Given the description of an element on the screen output the (x, y) to click on. 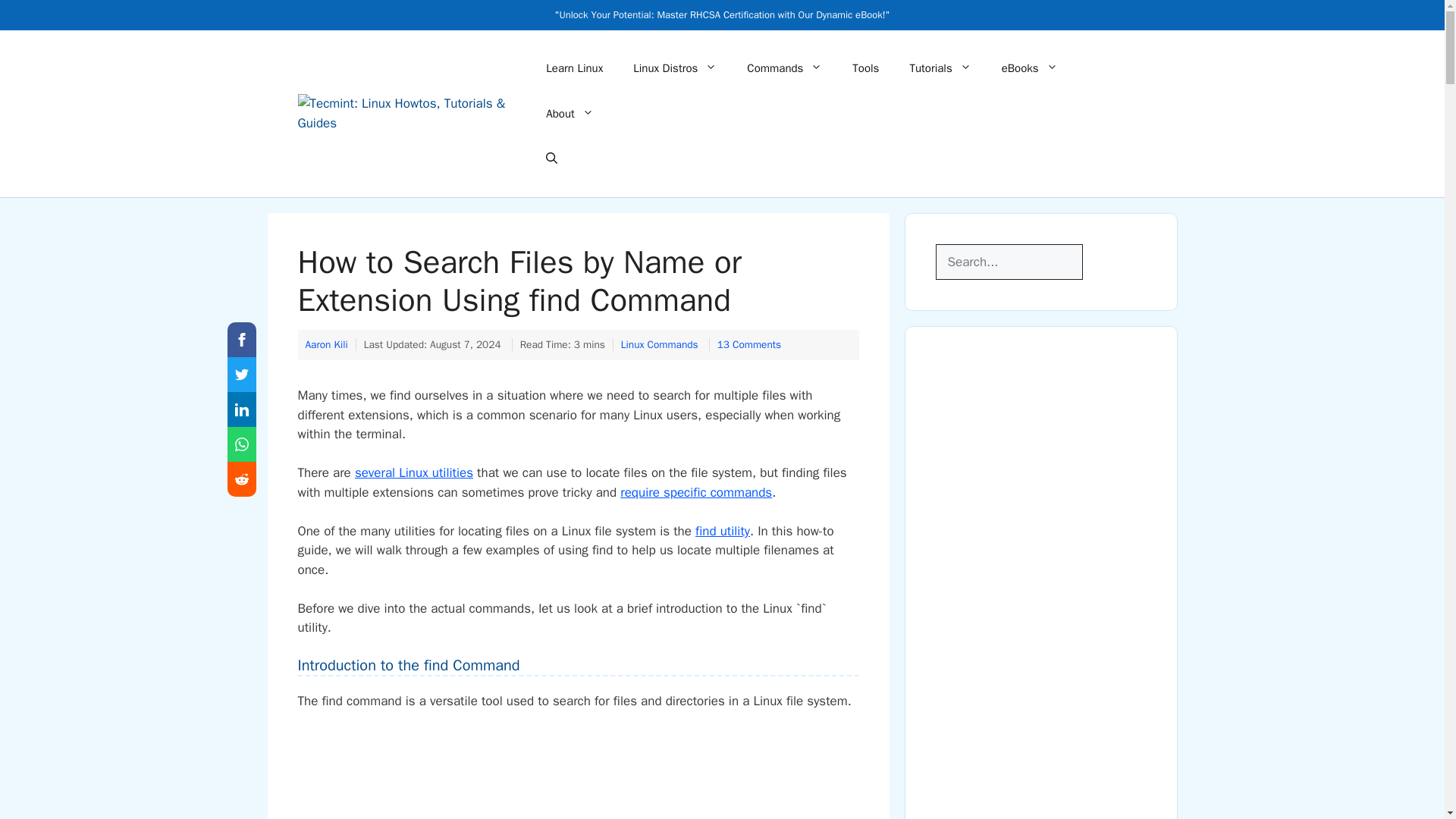
Commands (784, 67)
Tools (865, 67)
Tutorials (939, 67)
Learn Linux (574, 67)
Linux Distributions (674, 67)
Start Learning Linux (574, 67)
Linux Distros (674, 67)
